Given the description of an element on the screen output the (x, y) to click on. 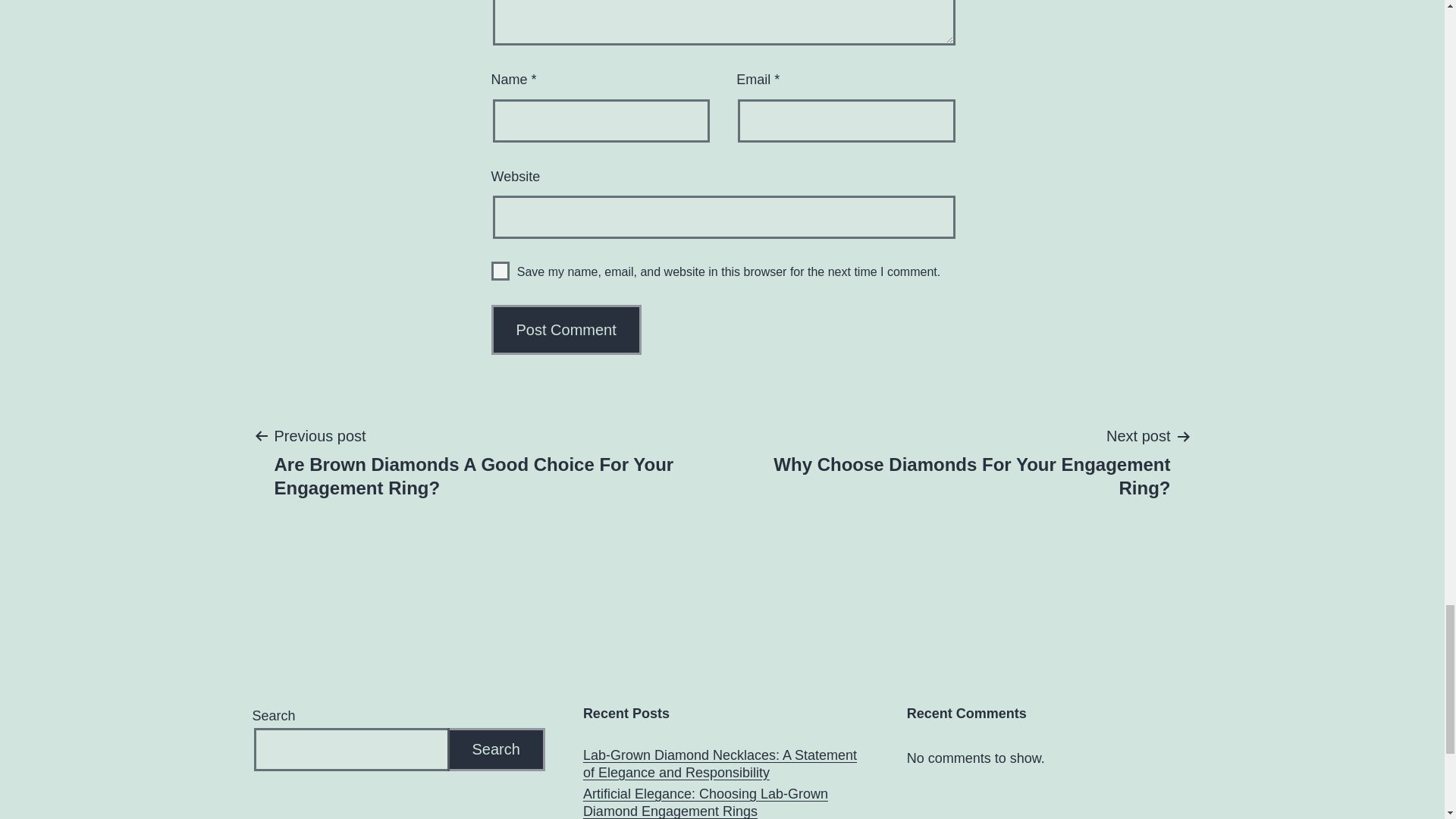
Post Comment (567, 329)
yes (500, 270)
Post Comment (567, 329)
Search (960, 461)
